Given the description of an element on the screen output the (x, y) to click on. 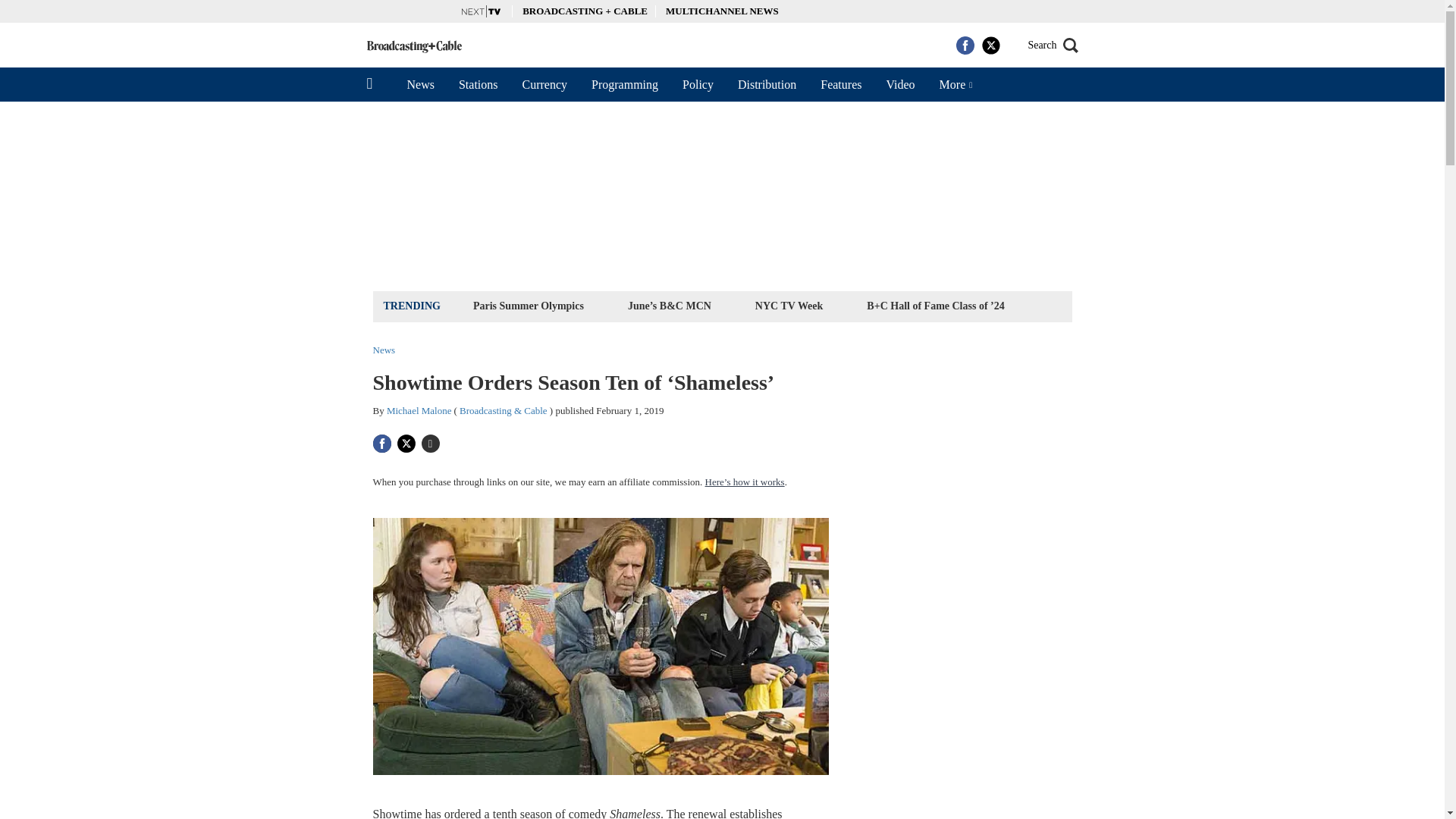
MULTICHANNEL NEWS (721, 10)
Video (899, 84)
Stations (478, 84)
NYC TV Week (788, 305)
Currency (544, 84)
Features (840, 84)
News (419, 84)
Programming (624, 84)
Michael Malone (419, 410)
Distribution (766, 84)
Paris Summer Olympics (528, 305)
Policy (697, 84)
